Given the description of an element on the screen output the (x, y) to click on. 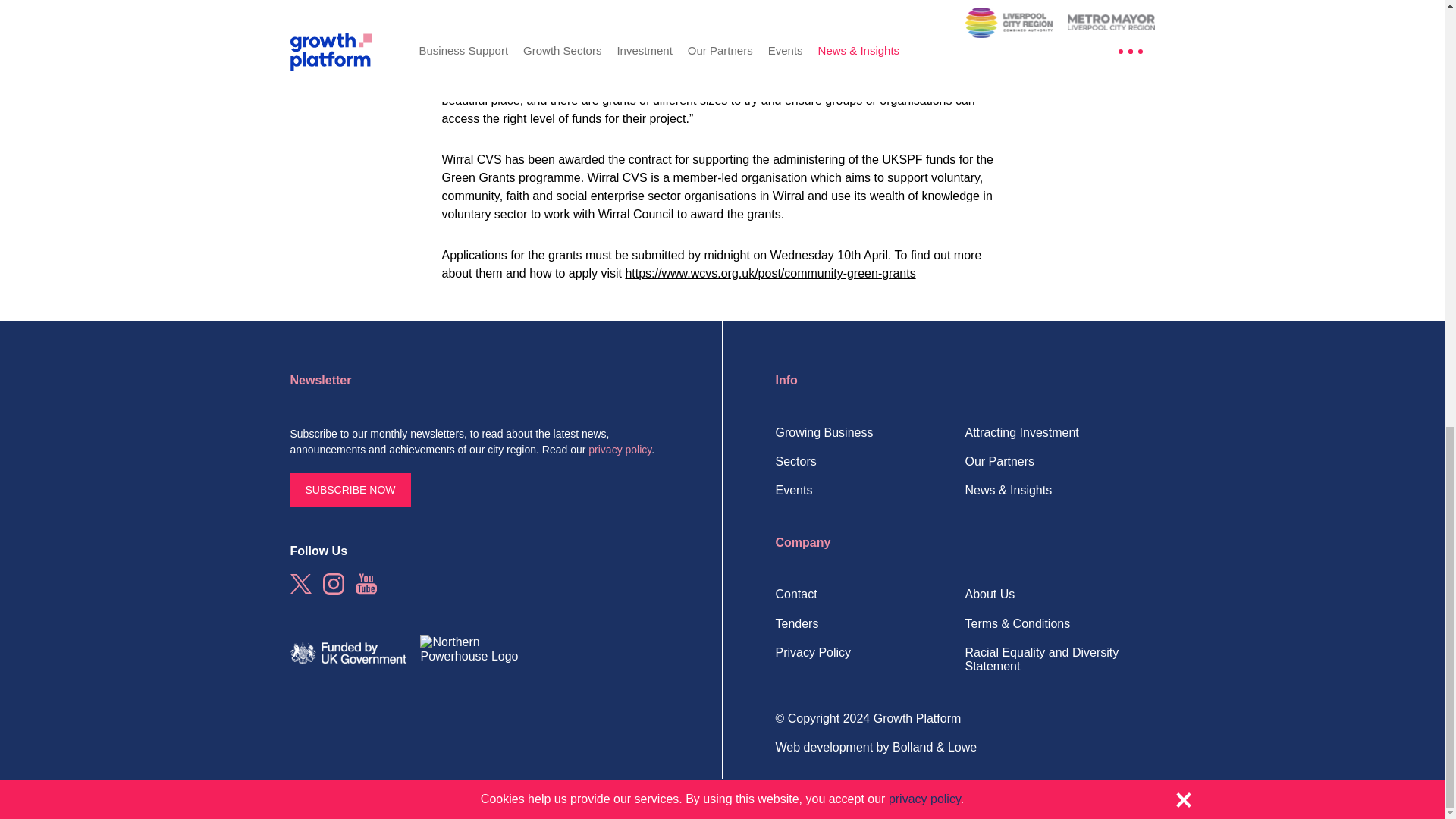
Growth Platform on Instagram (333, 583)
Growth Platform on YouTube (365, 583)
Growth Platform on Twitter (300, 583)
